Given the description of an element on the screen output the (x, y) to click on. 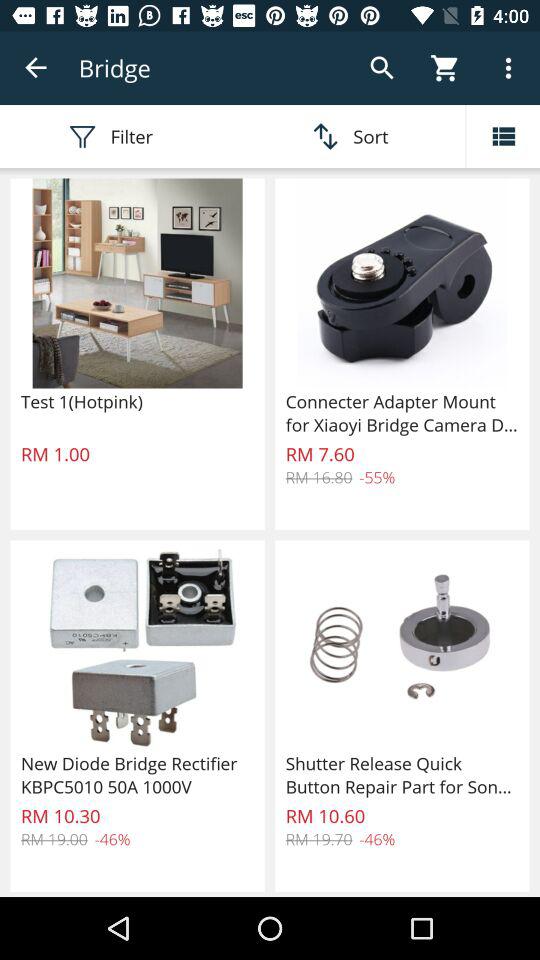
access menu (503, 136)
